Given the description of an element on the screen output the (x, y) to click on. 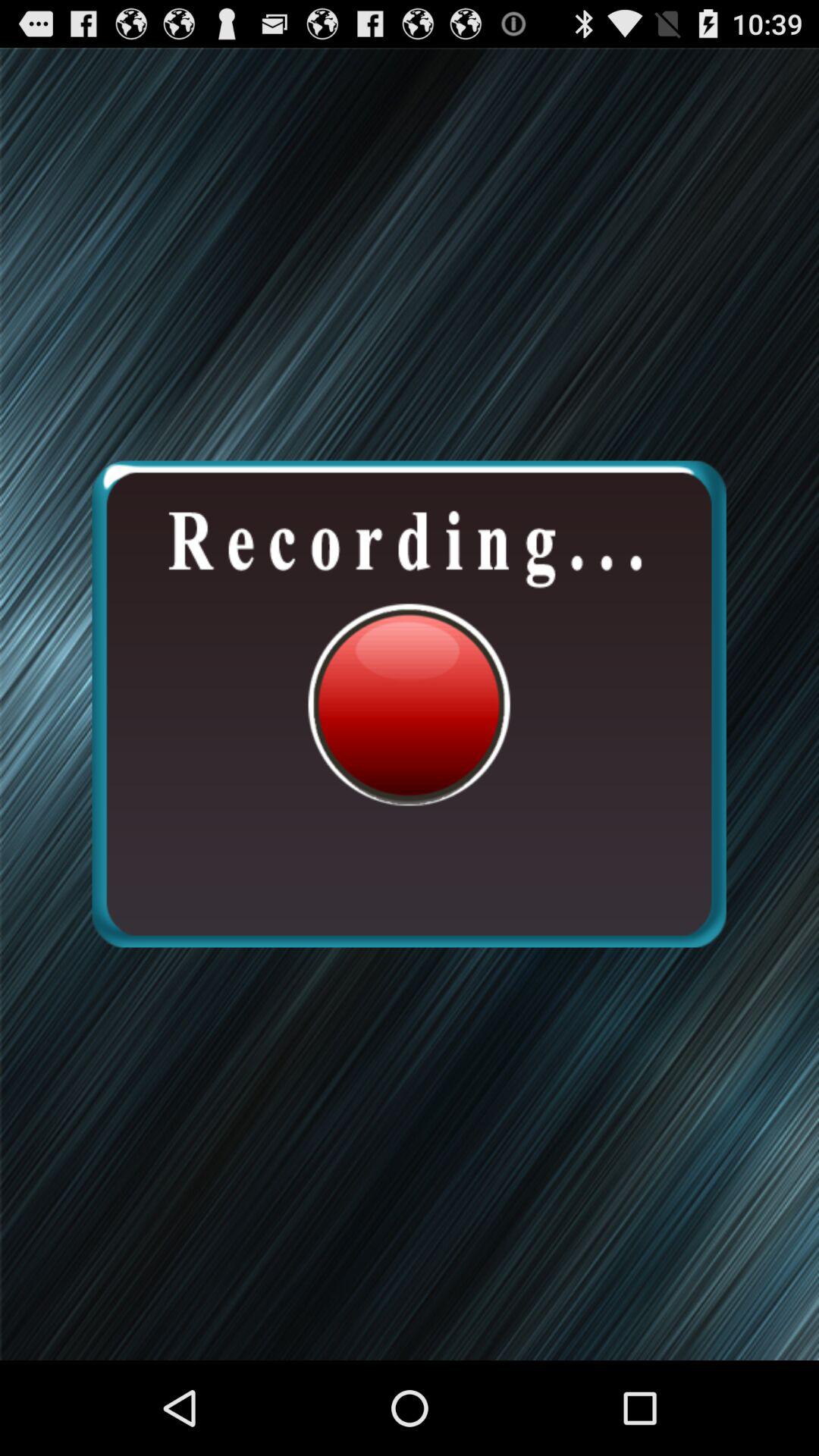
record screen (409, 703)
